Given the description of an element on the screen output the (x, y) to click on. 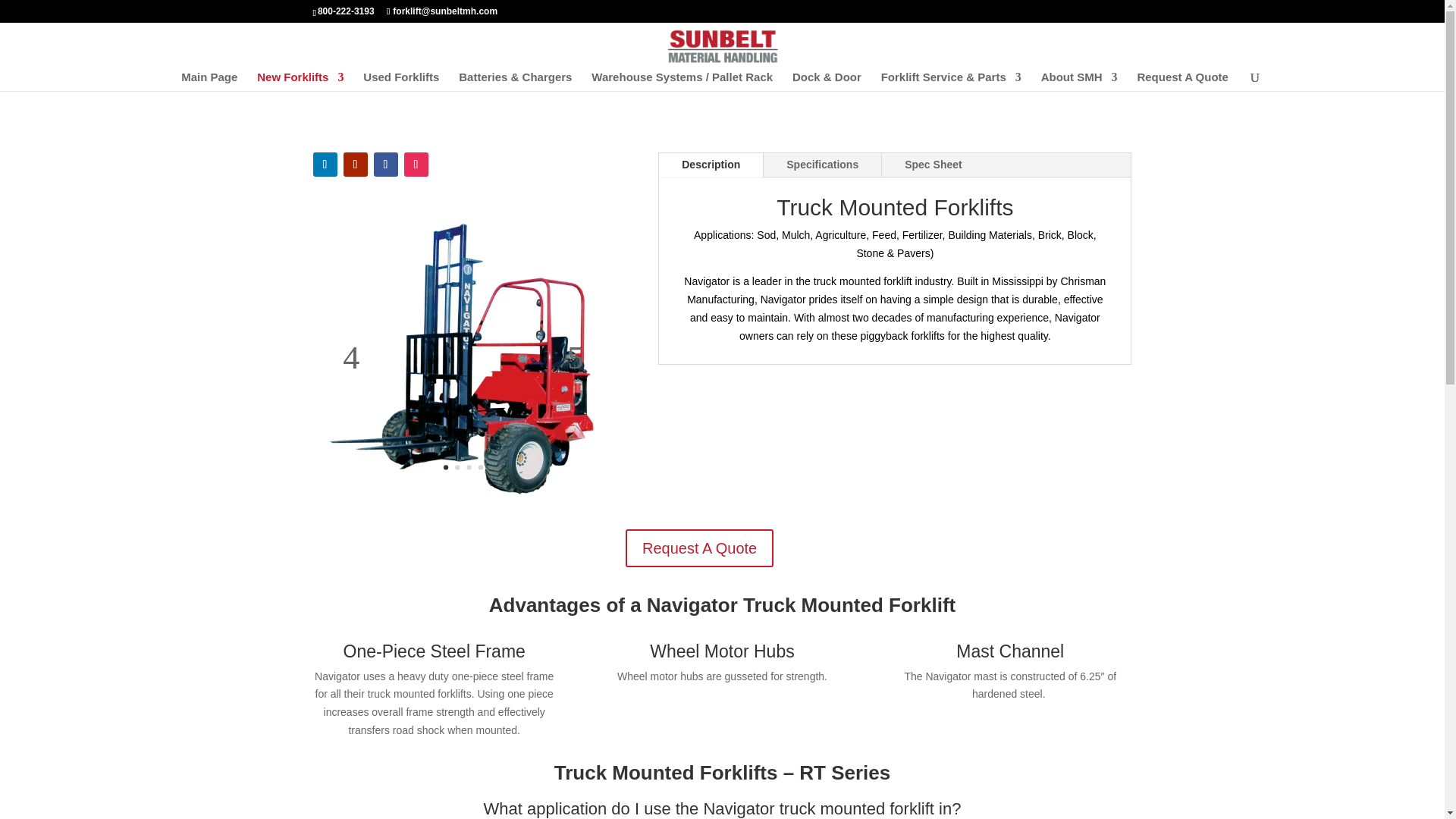
Follow on Instagram (415, 164)
Follow on Youtube (354, 164)
About SMH (1079, 81)
Used Forklifts (400, 81)
RT-4000 (477, 491)
Follow on LinkedIn (324, 164)
Main Page (208, 81)
Follow on Facebook (384, 164)
New Forklifts (300, 81)
